Given the description of an element on the screen output the (x, y) to click on. 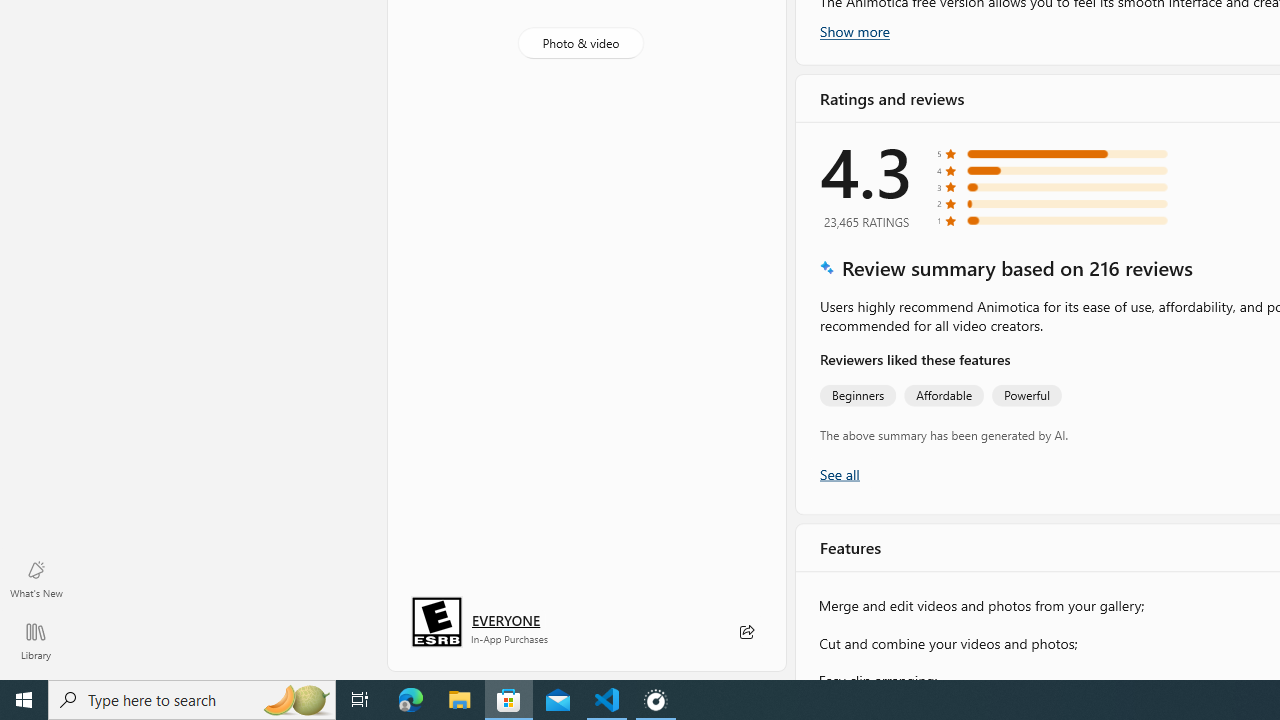
Show more (854, 31)
Show all ratings and reviews (838, 472)
Age rating: EVERYONE. Click for more information. (506, 619)
Photo & video (579, 43)
Share (746, 632)
